Given the description of an element on the screen output the (x, y) to click on. 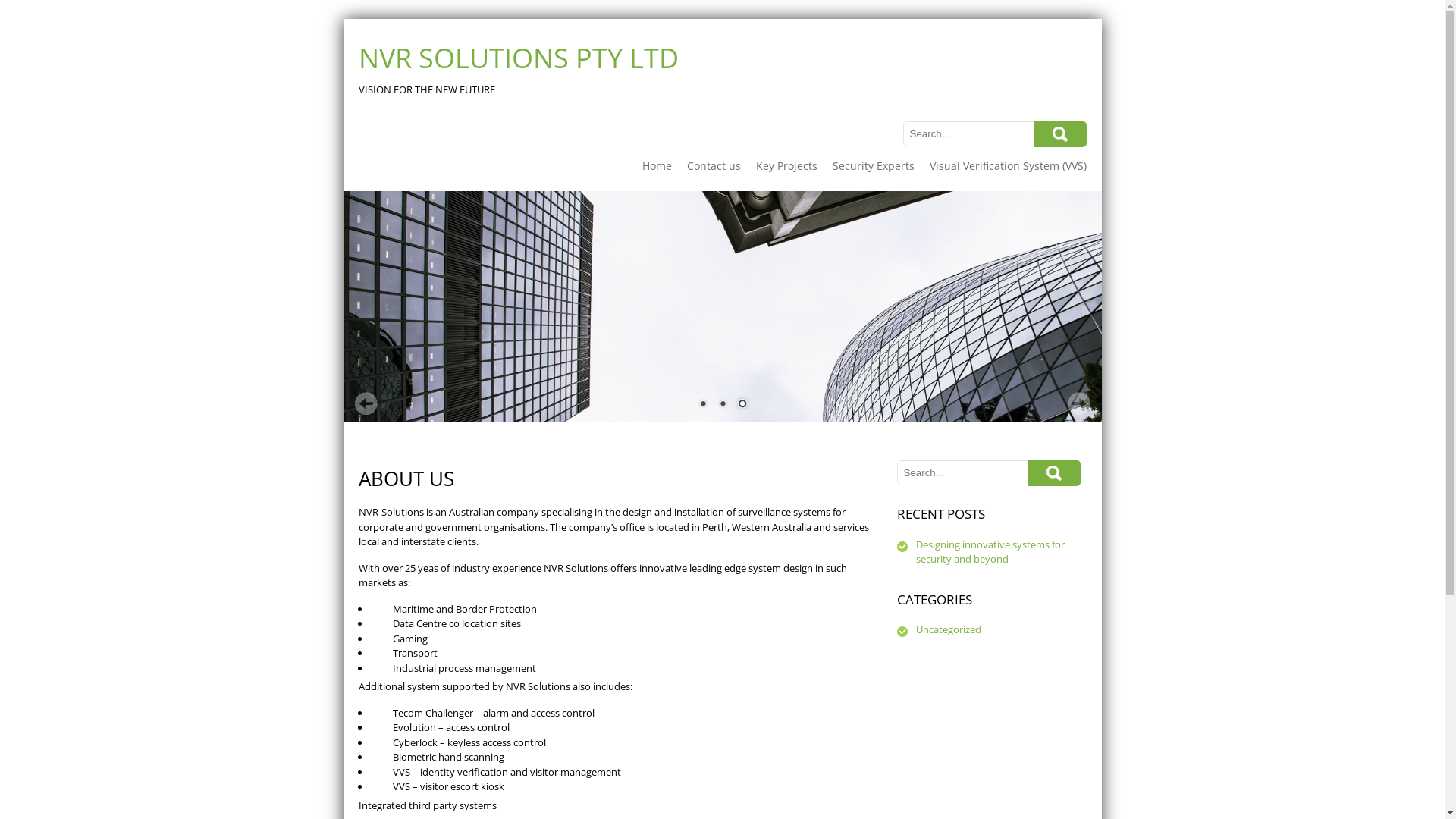
Search Element type: text (1058, 134)
Key Projects Element type: text (785, 164)
Uncategorized Element type: text (948, 629)
1 Element type: text (702, 404)
2 Element type: text (722, 404)
Visual Verification System (VVS) Element type: text (1008, 164)
NVR SOLUTIONS PTY LTD Element type: text (517, 57)
Security Experts Element type: text (873, 164)
Prev Element type: text (365, 403)
Search Element type: text (1052, 473)
Next Element type: text (1078, 403)
Contact us Element type: text (713, 164)
3 Element type: text (742, 404)
Home Element type: text (655, 164)
Designing innovative systems for security and beyond Element type: text (990, 550)
